Given the description of an element on the screen output the (x, y) to click on. 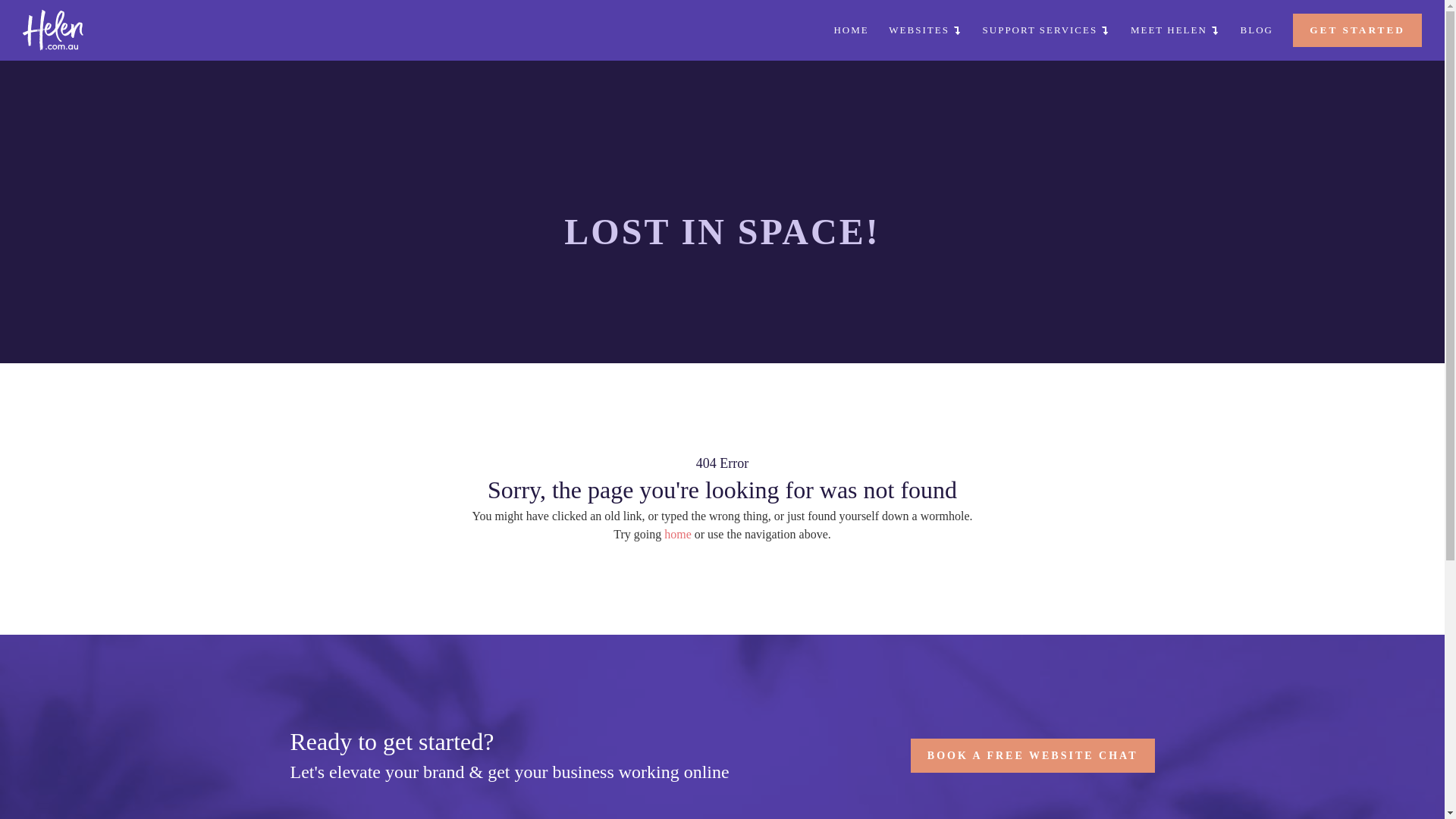
WEBSITES Element type: text (957, 29)
GET STARTED Element type: text (1356, 30)
BOOK A FREE WEBSITE CHAT Element type: text (1032, 755)
HOME Element type: text (889, 29)
home Element type: text (677, 533)
BLOG Element type: text (1256, 29)
MEET HELEN Element type: text (1181, 29)
SUPPORT SERVICES Element type: text (1064, 29)
